Given the description of an element on the screen output the (x, y) to click on. 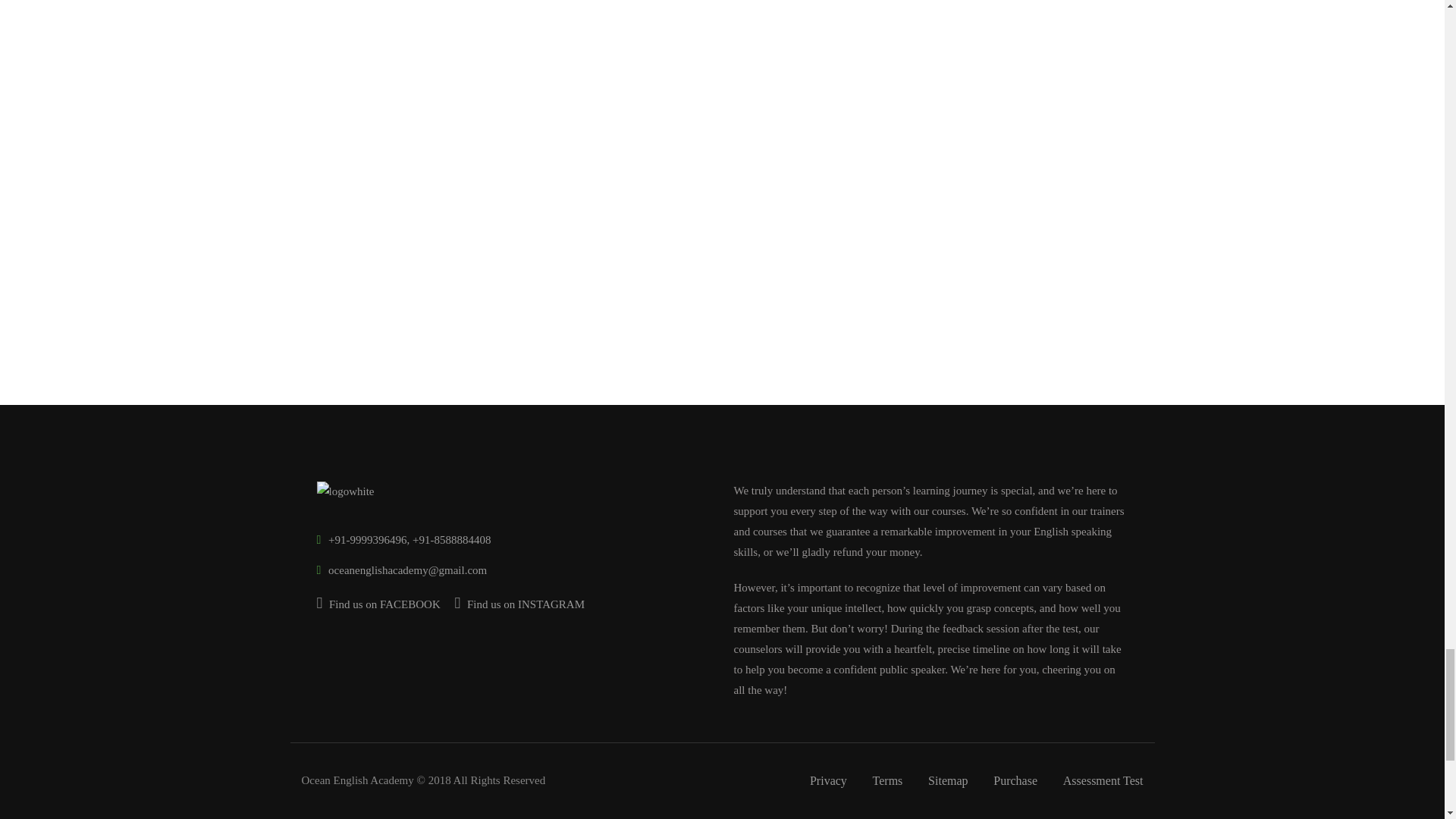
logowhite (345, 491)
